Given the description of an element on the screen output the (x, y) to click on. 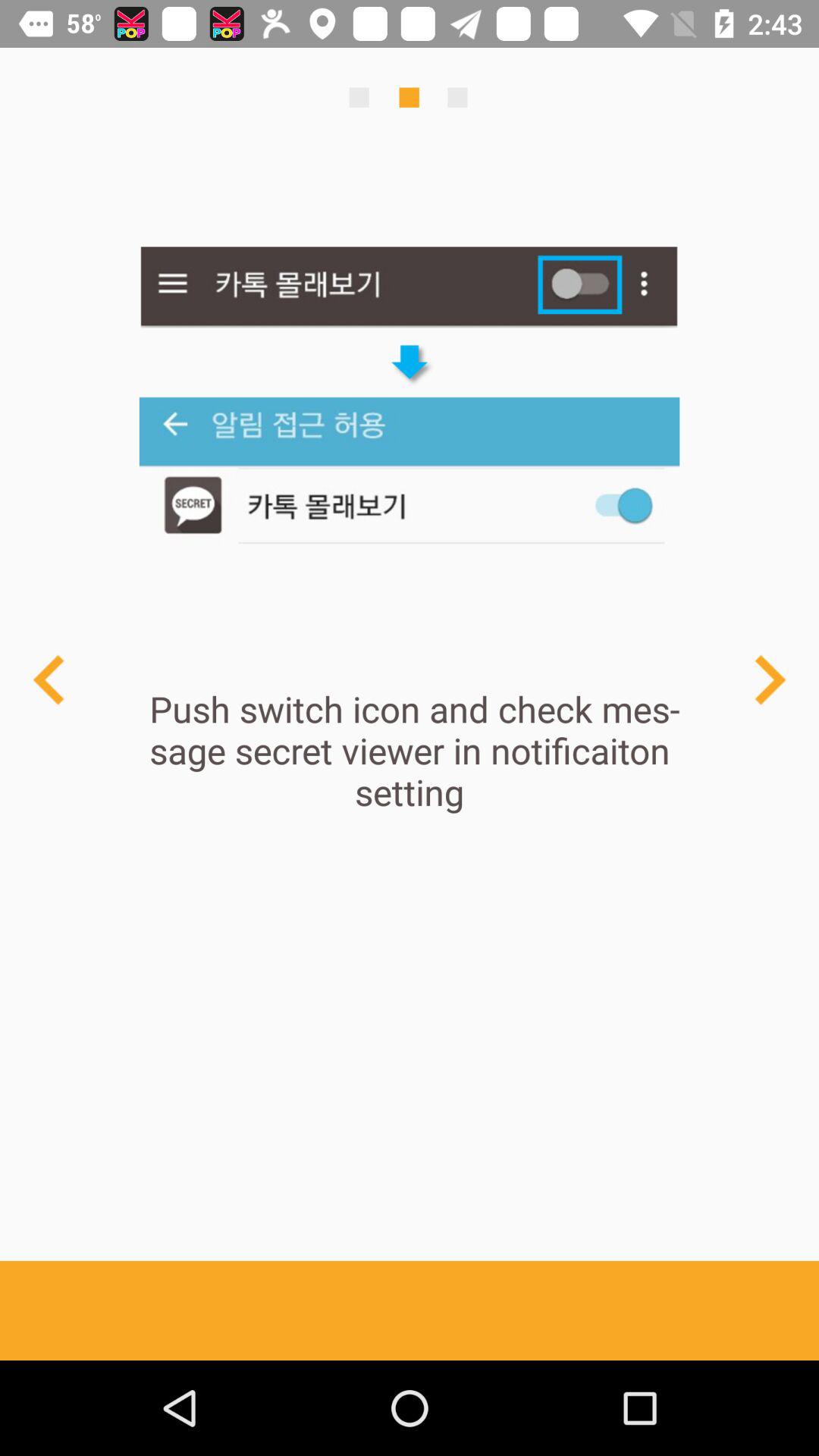
go to previous page (49, 679)
